Given the description of an element on the screen output the (x, y) to click on. 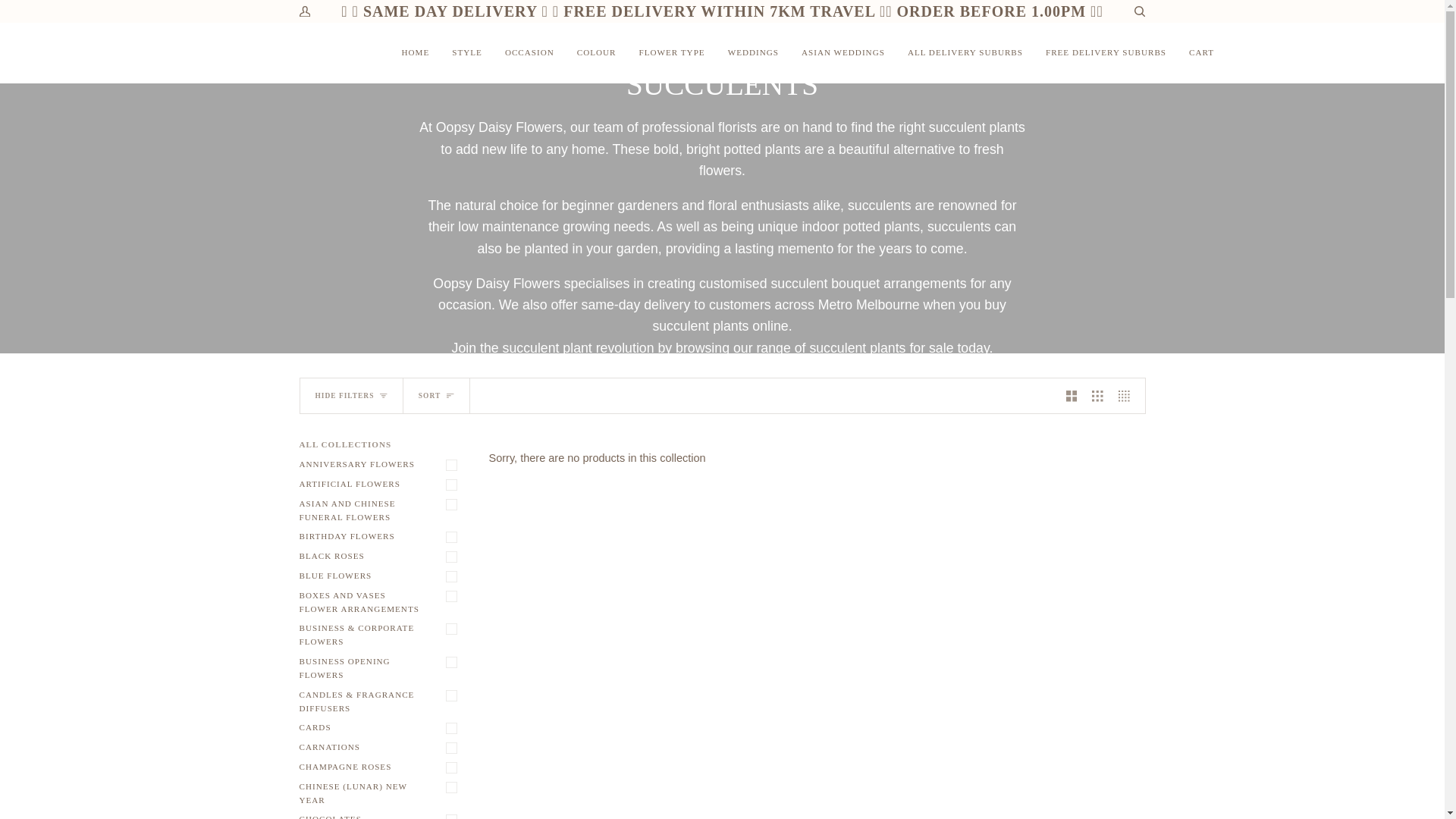
COLOUR (596, 52)
OCCASION (529, 52)
